Given the description of an element on the screen output the (x, y) to click on. 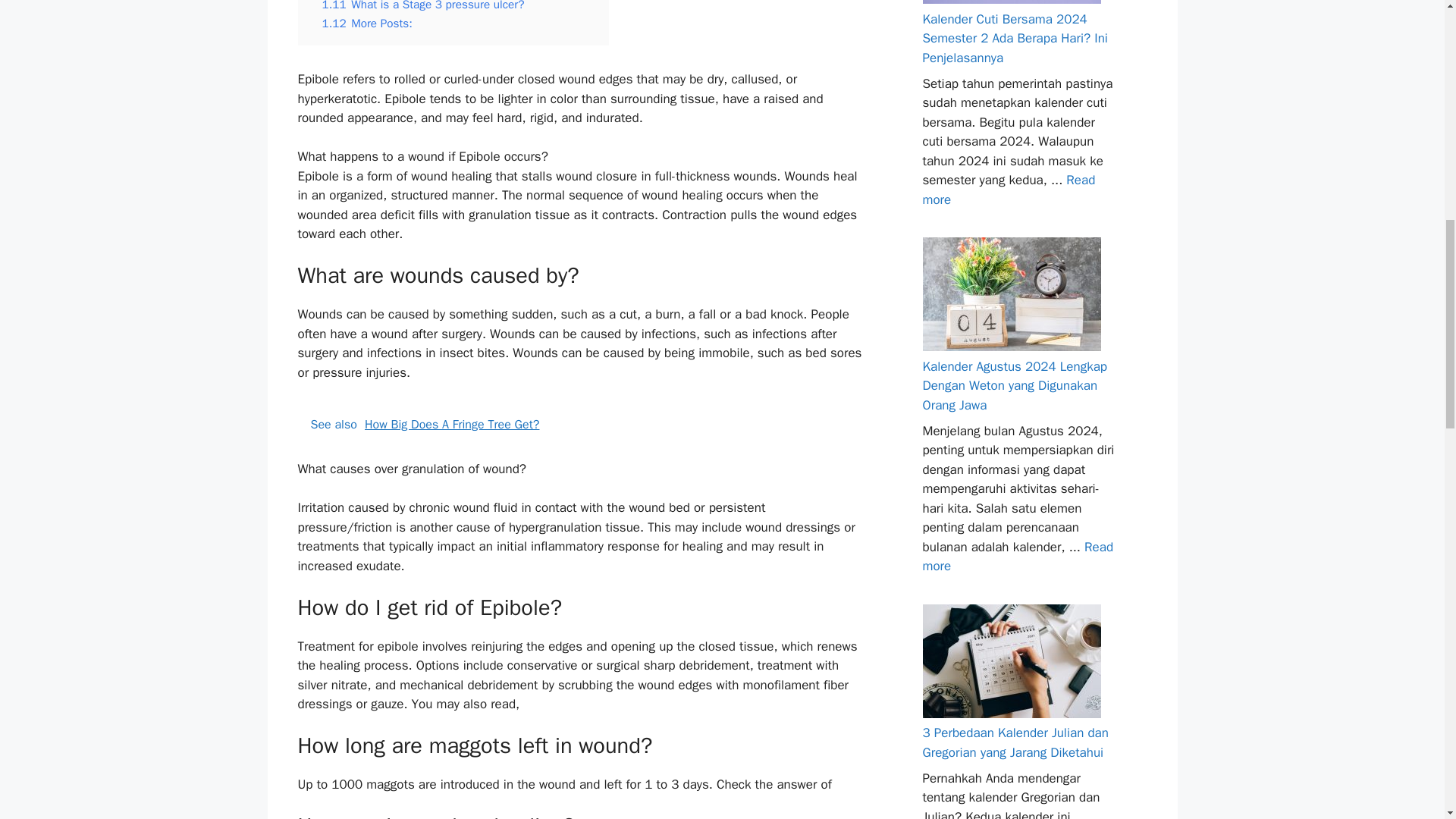
See also  How Big Does A Fringe Tree Get? (579, 424)
1.11 What is a Stage 3 pressure ulcer? (422, 6)
1.12 More Posts: (366, 23)
